Given the description of an element on the screen output the (x, y) to click on. 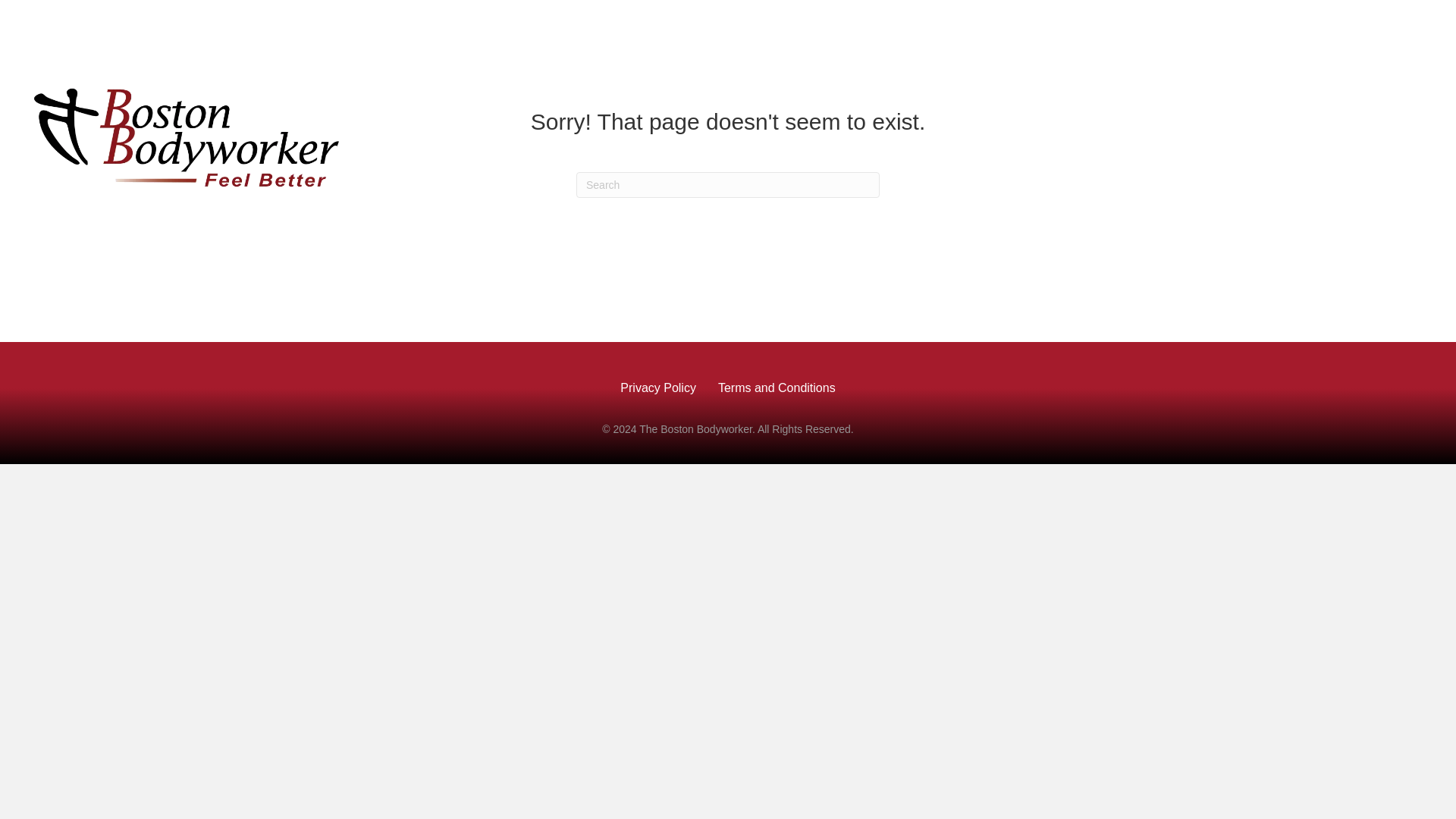
uncroppedBBW-logo-white-outline-1-768x263 (186, 134)
Type and press Enter to search. (727, 184)
Privacy Policy (658, 388)
Terms and Conditions (776, 388)
